Given the description of an element on the screen output the (x, y) to click on. 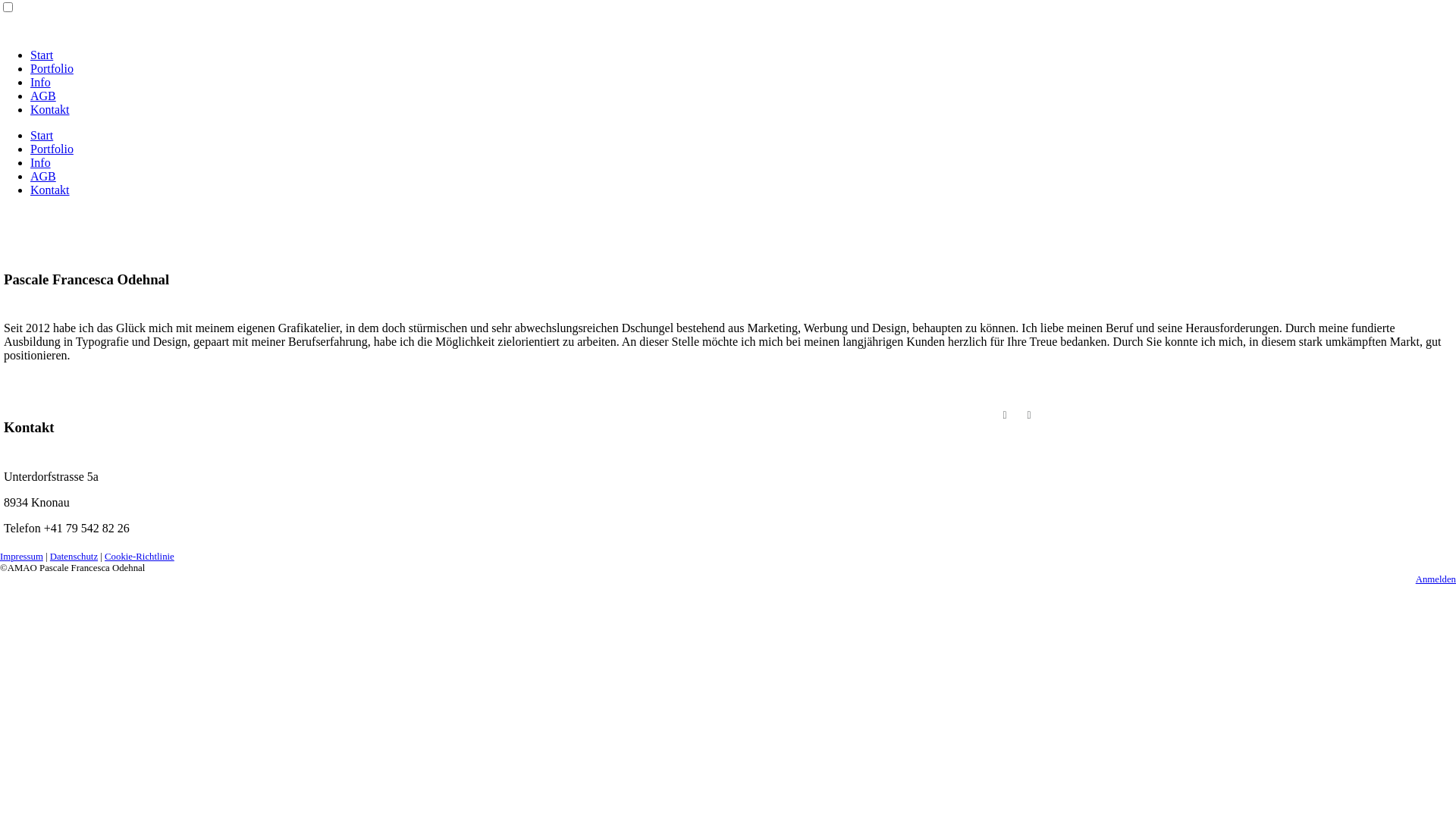
Kontakt Element type: text (49, 109)
Facebook Element type: hover (1004, 415)
Portfolio Element type: text (51, 148)
Start Element type: text (41, 54)
Impressum Element type: text (21, 556)
Start Element type: text (41, 134)
AGB Element type: text (43, 175)
E-Mail Element type: hover (1028, 415)
Datenschutz Element type: text (73, 556)
Kontakt Element type: text (49, 189)
AGB Element type: text (43, 95)
Info Element type: text (40, 81)
Cookie-Richtlinie Element type: text (139, 556)
Info Element type: text (40, 162)
Portfolio Element type: text (51, 68)
